Given the description of an element on the screen output the (x, y) to click on. 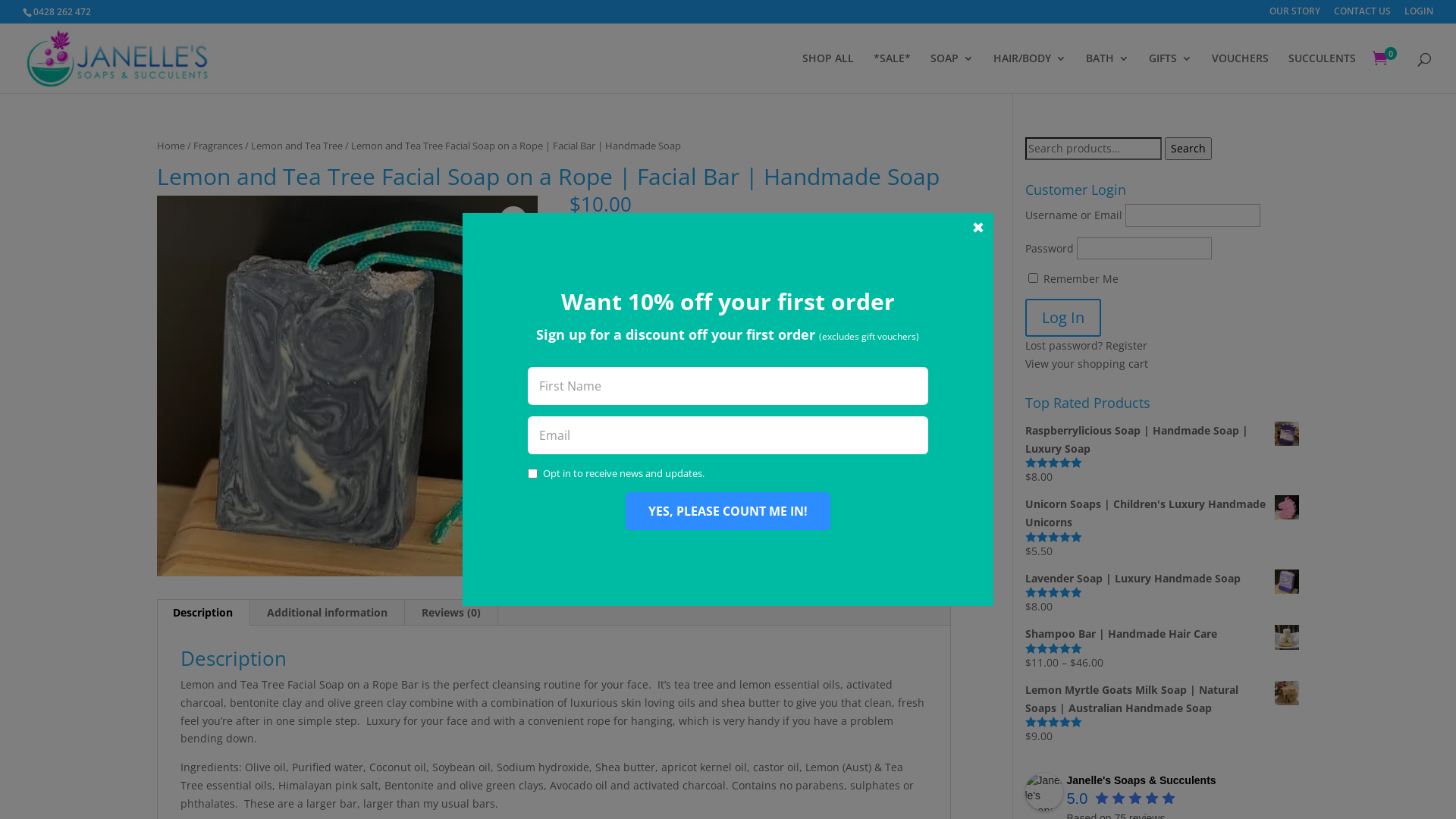
Raspberrylicious Soap | Handmade Soap | Luxury Soap Element type: text (1162, 439)
Unicorn Soaps | Children's Luxury Handmade Unicorns Element type: text (1162, 513)
Search Element type: text (1187, 148)
LOGIN Element type: text (1418, 14)
Fragrances Element type: text (217, 145)
Janelle's Soaps & Succulents Element type: hover (1044, 791)
Twitter Element type: text (710, 317)
Janelle's Soaps & Succulents Element type: text (1140, 780)
Print Element type: text (683, 355)
Email Element type: text (605, 355)
Facebook Element type: text (615, 317)
View your shopping cart Element type: text (1086, 363)
Pinterest Element type: text (801, 317)
SOAP Element type: text (951, 73)
Log In Element type: text (1063, 317)
LinkedIn Element type: text (897, 317)
Description Element type: text (202, 612)
OUR STORY Element type: text (1294, 14)
Additional information Element type: text (327, 612)
learn more Element type: text (809, 238)
BATH Element type: text (1107, 73)
HAIR/BODY Element type: text (1029, 73)
SHOP ALL Element type: text (827, 73)
Home Element type: text (170, 145)
Register Element type: text (1126, 345)
Lavender Soap | Luxury Handmade Soap Element type: text (1162, 578)
*SALE* Element type: text (891, 73)
Lost password? Element type: text (1063, 345)
Lemon and Tea Tree Element type: text (296, 145)
CONTACT US Element type: text (1361, 14)
Add to cart Element type: text (685, 461)
SUCCULENTS Element type: text (1321, 73)
GIFTS Element type: text (1170, 73)
Reviews (0) Element type: text (450, 612)
0428 262 472 Element type: text (62, 11)
Shampoo Bar | Handmade Hair Care Element type: text (1162, 633)
VOUCHERS Element type: text (1239, 73)
